Given the description of an element on the screen output the (x, y) to click on. 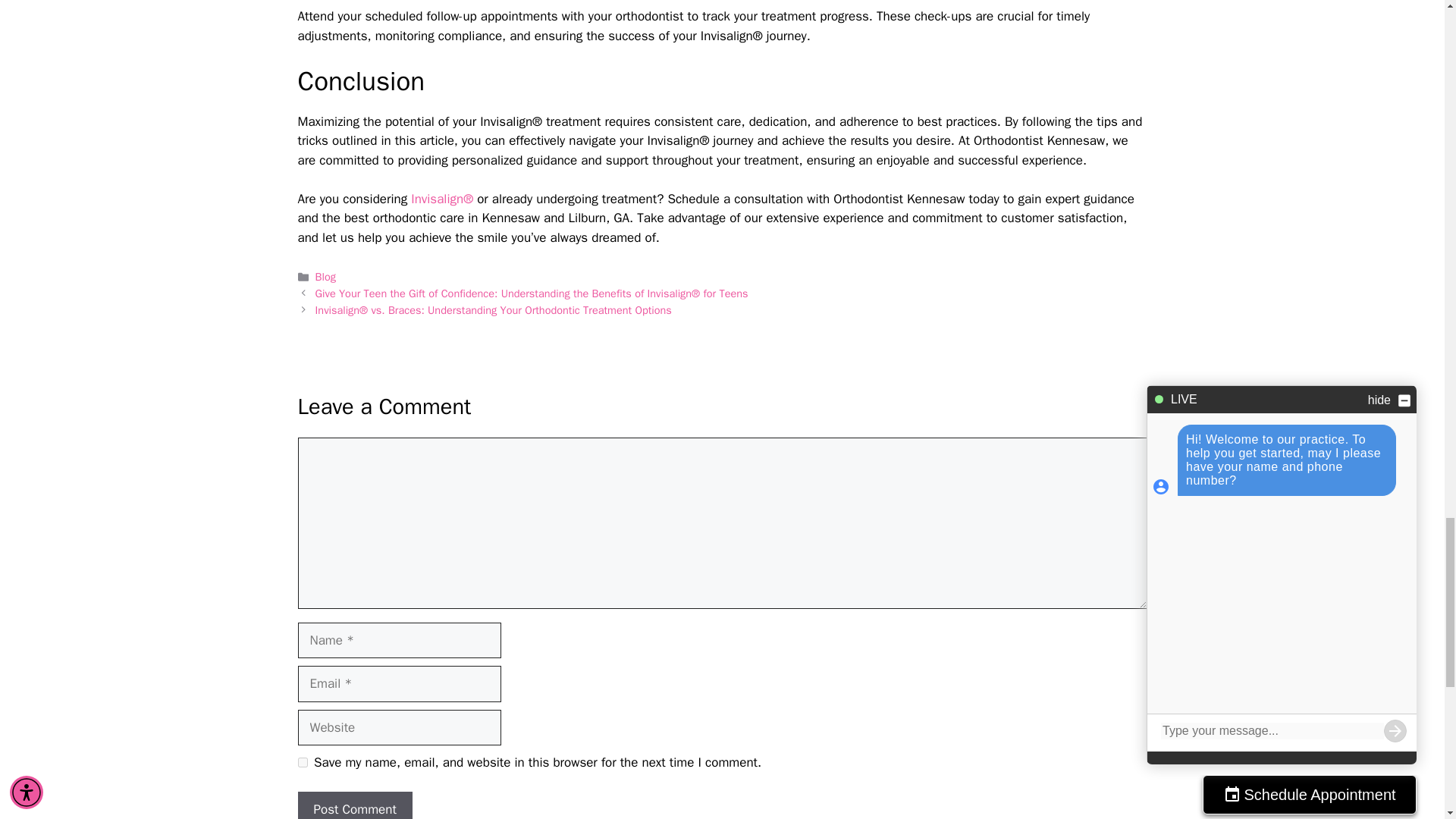
Post Comment (354, 805)
Blog (325, 276)
Previous (531, 293)
Next (493, 309)
yes (302, 762)
Post Comment (354, 805)
